Given the description of an element on the screen output the (x, y) to click on. 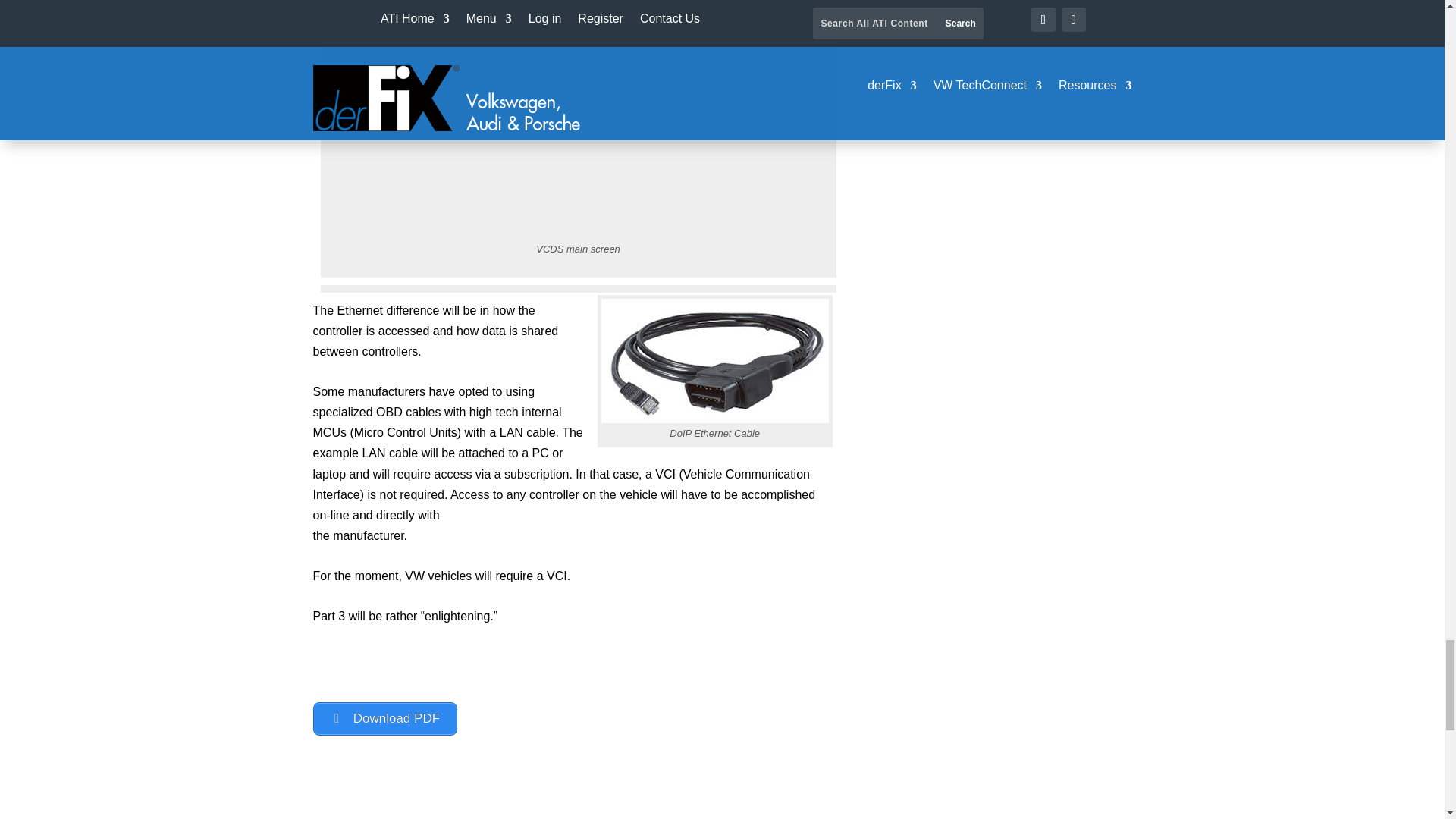
Download PDF (385, 718)
